Given the description of an element on the screen output the (x, y) to click on. 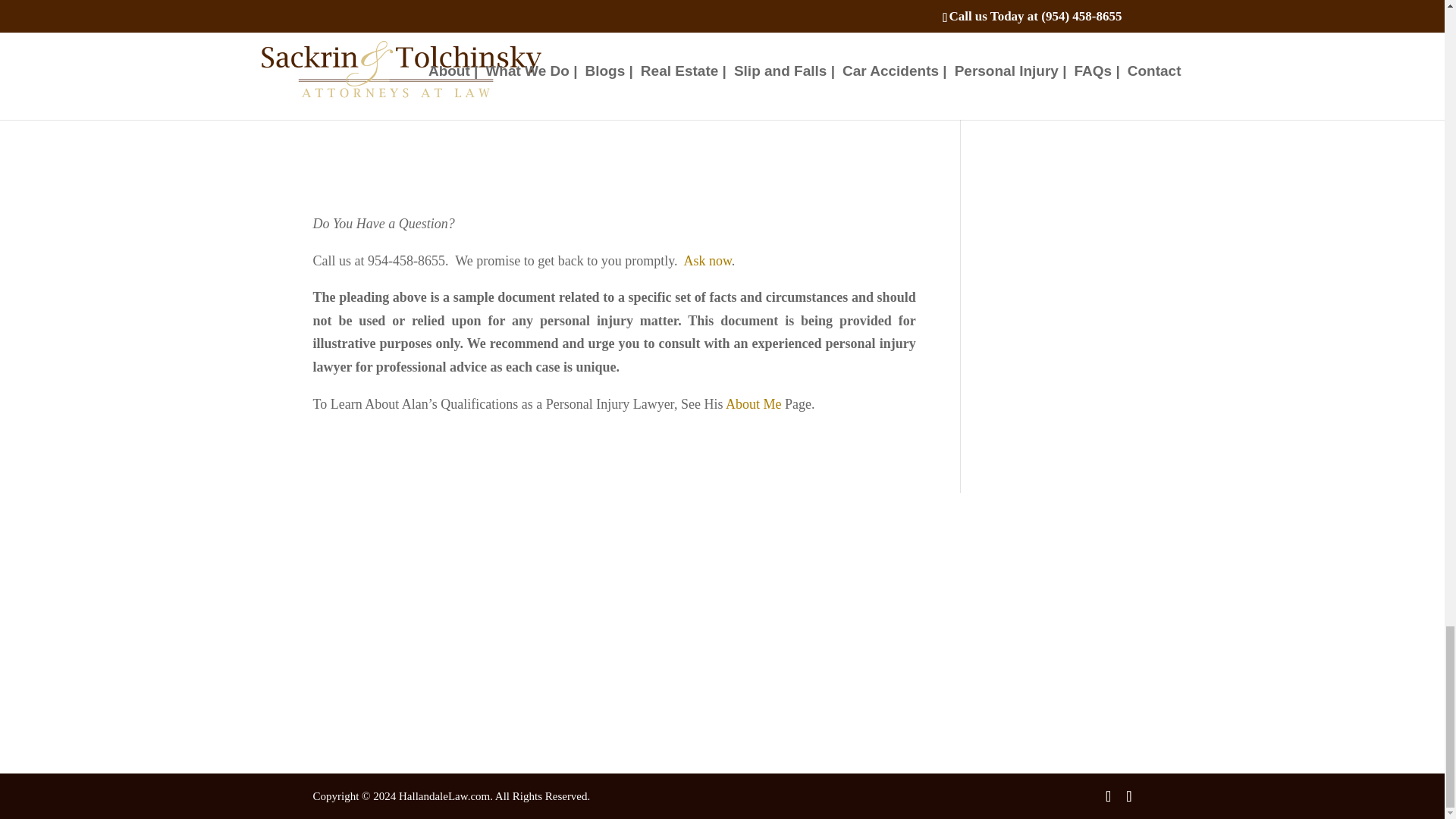
Contact Us (348, 689)
Partition Actions (360, 595)
Real Estate Law (575, 595)
About Me (753, 403)
Probate Law (567, 619)
Home (336, 573)
Resources (346, 666)
Personal Injury Law (584, 573)
Ask now (708, 260)
